Given the description of an element on the screen output the (x, y) to click on. 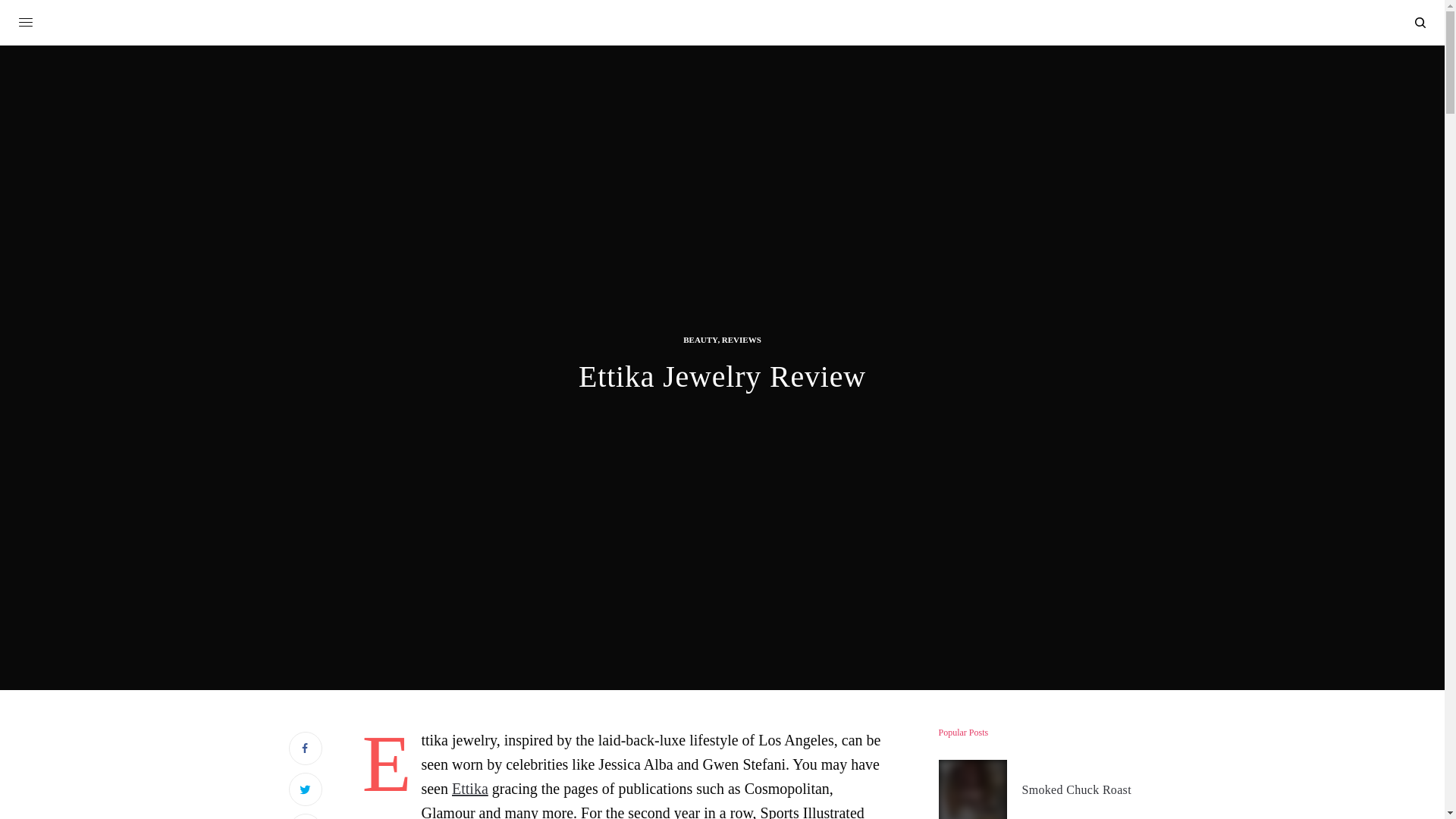
Ettika (469, 788)
Smoked Chuck Roast (1076, 790)
Smoked Chuck Roast (1076, 790)
REVIEWS (741, 339)
BEAUTY (699, 339)
About a Mom (722, 24)
